Given the description of an element on the screen output the (x, y) to click on. 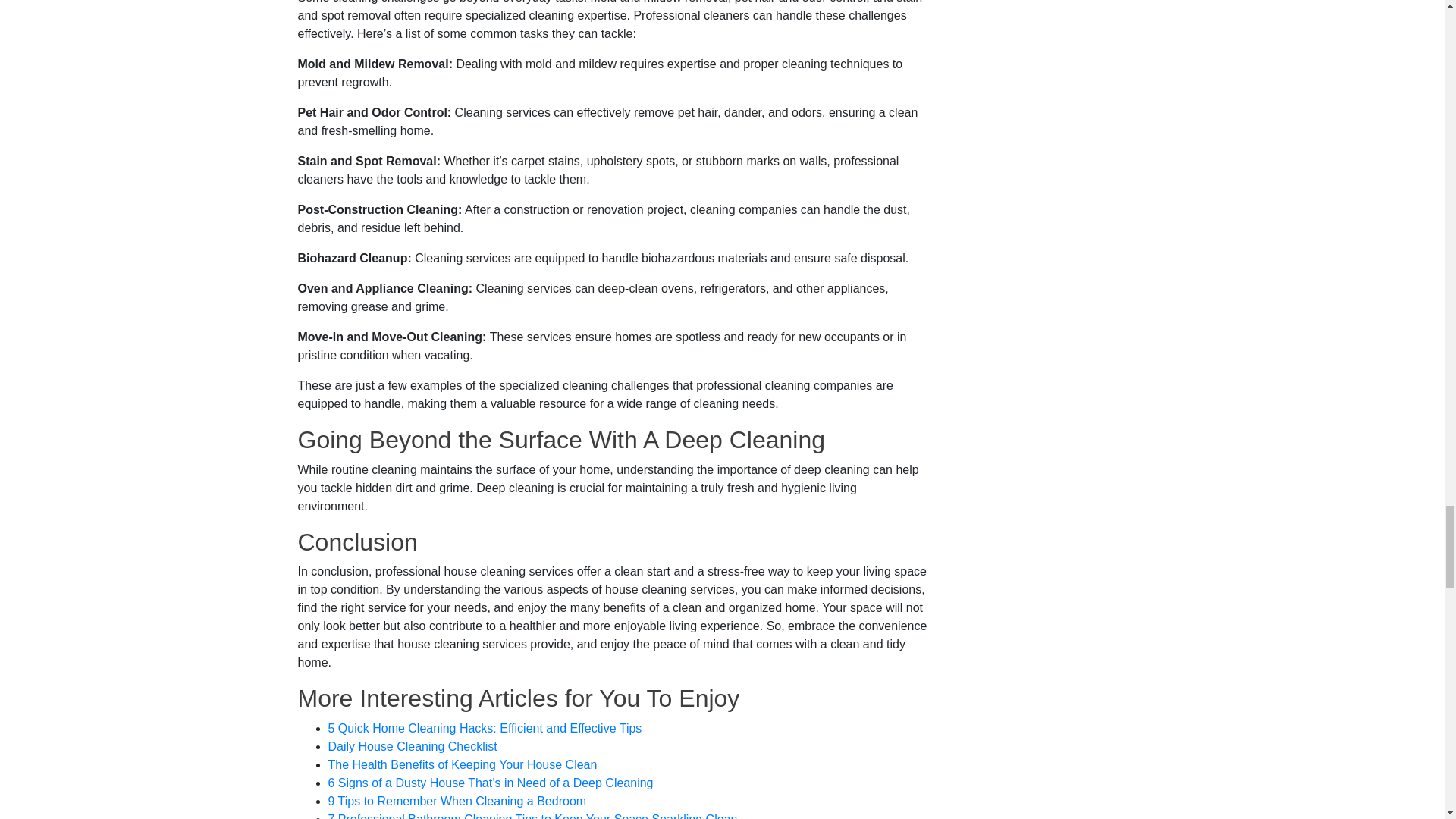
5 Quick Home Cleaning Hacks: Efficient and Effective Tips (484, 727)
The Health Benefits of Keeping Your House Clean (461, 764)
9 Tips to Remember When Cleaning a Bedroom (456, 800)
Daily House Cleaning Checklist (411, 746)
